Given the description of an element on the screen output the (x, y) to click on. 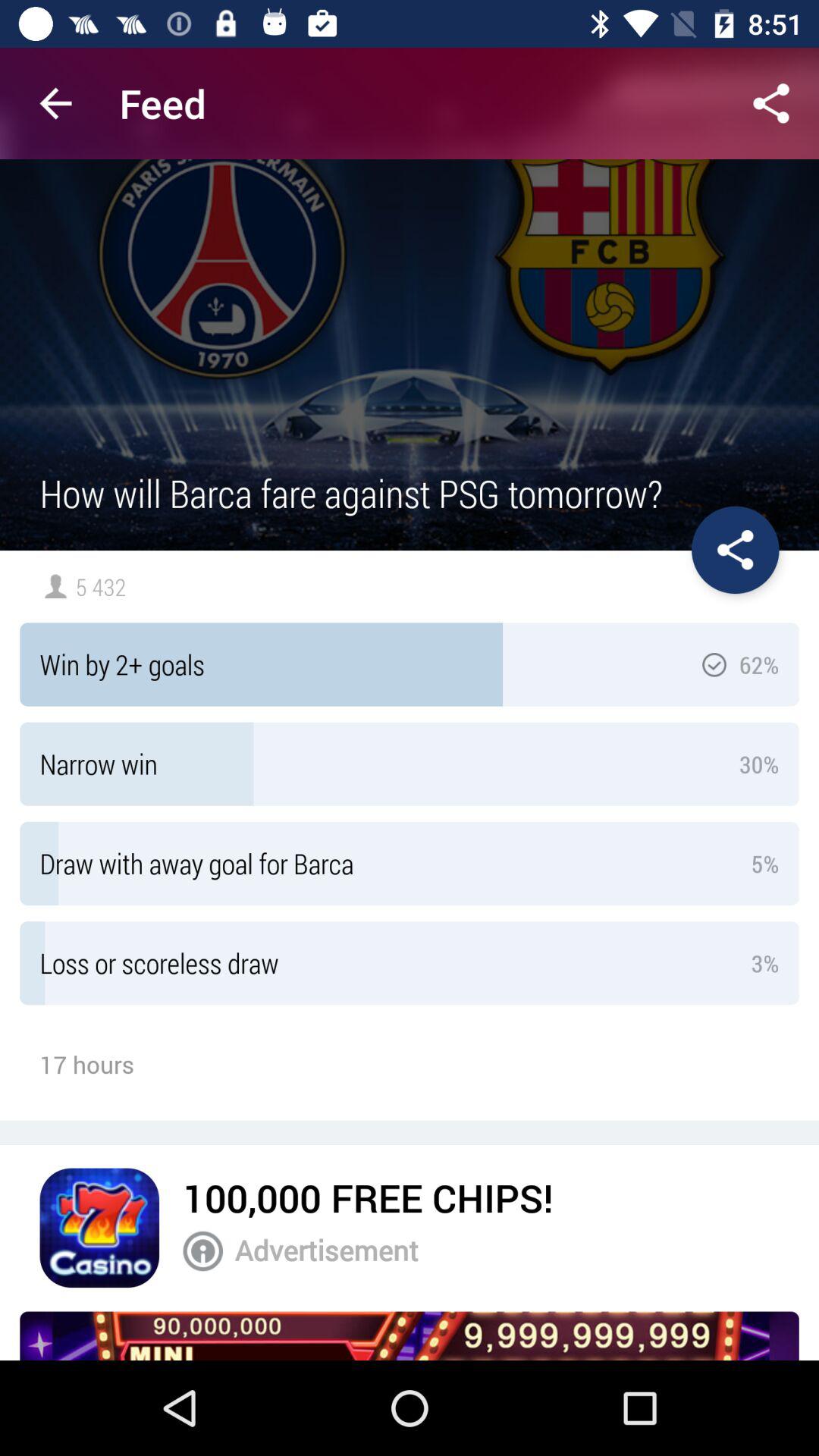
swipe until 100 000 free item (368, 1197)
